Given the description of an element on the screen output the (x, y) to click on. 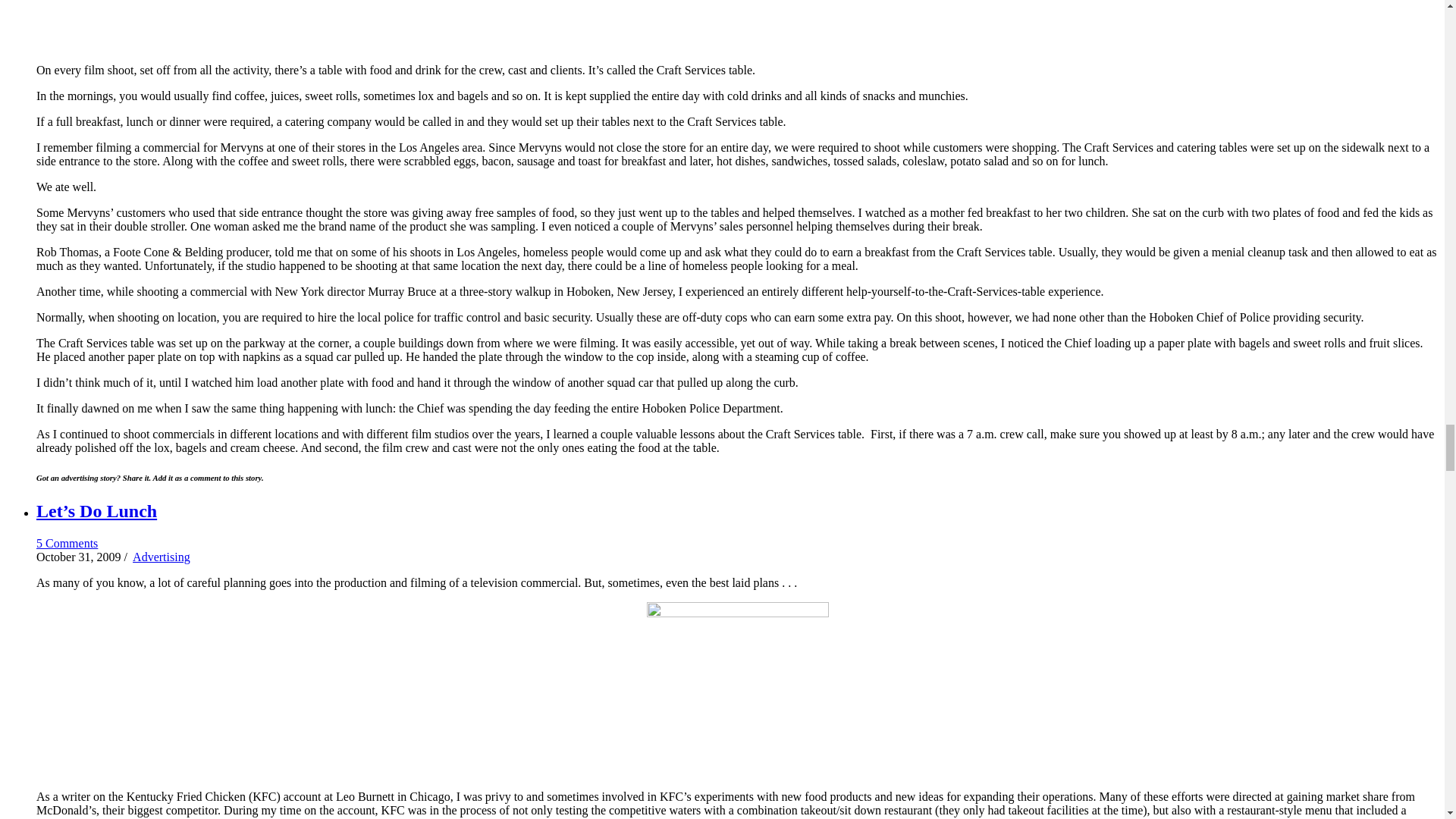
5 Comments (66, 543)
Advertising (161, 556)
